Given the description of an element on the screen output the (x, y) to click on. 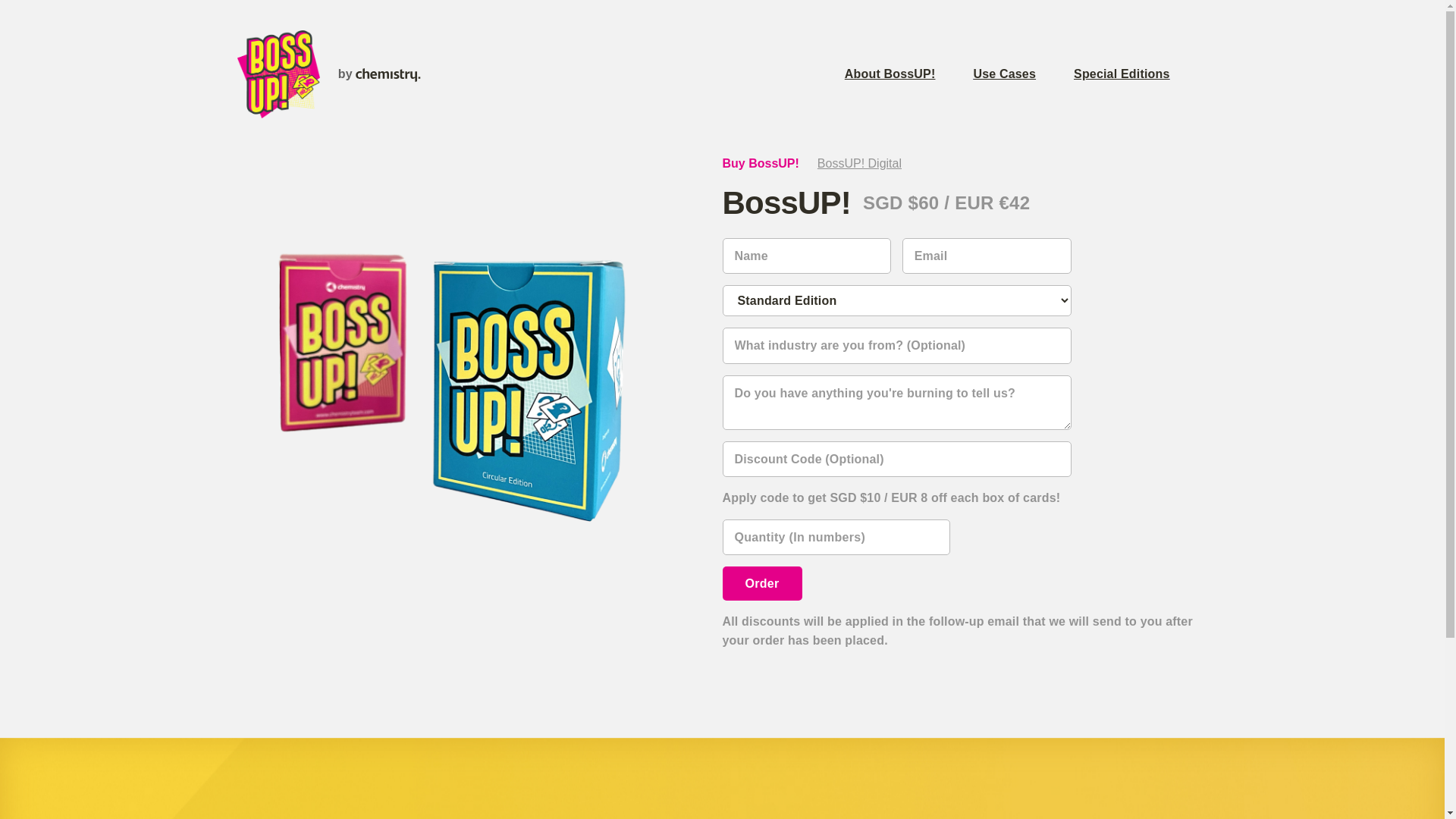
Use Cases Element type: text (1022, 74)
Special Editions Element type: text (1140, 74)
Order Element type: text (761, 583)
BossUP! Digital Element type: text (859, 163)
About BossUP! Element type: text (908, 74)
Buy BossUP! Element type: text (759, 163)
